Given the description of an element on the screen output the (x, y) to click on. 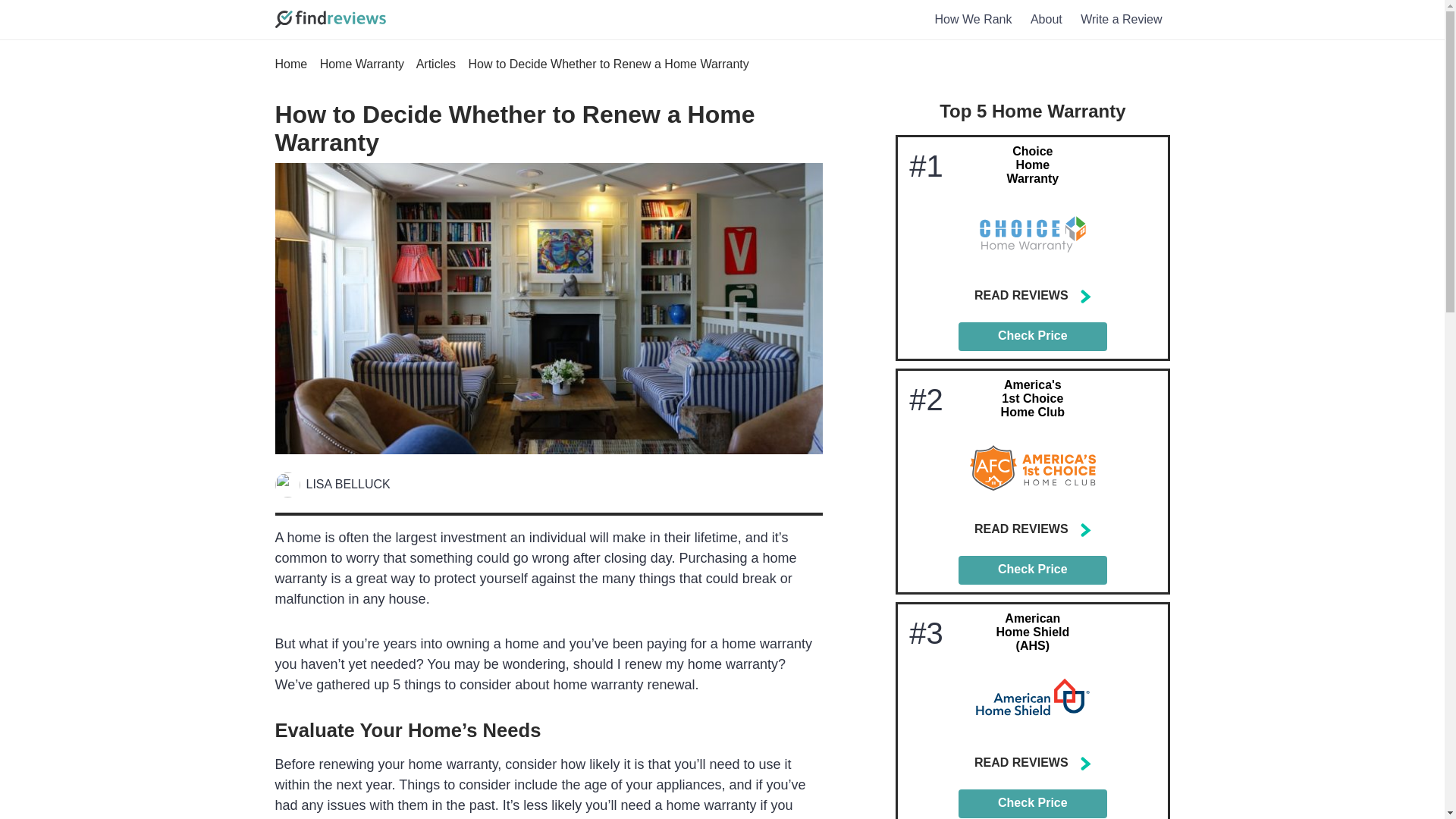
Articles (435, 63)
How to Decide Whether to Renew a Home Warranty (514, 128)
READ REVIEWS (1032, 763)
America's 1st Choice Home Club (1032, 398)
READ REVIEWS (1032, 529)
Check Price (1032, 336)
Write a Review (1121, 19)
About (1046, 19)
Check Price (1032, 803)
Home (291, 63)
